Given the description of an element on the screen output the (x, y) to click on. 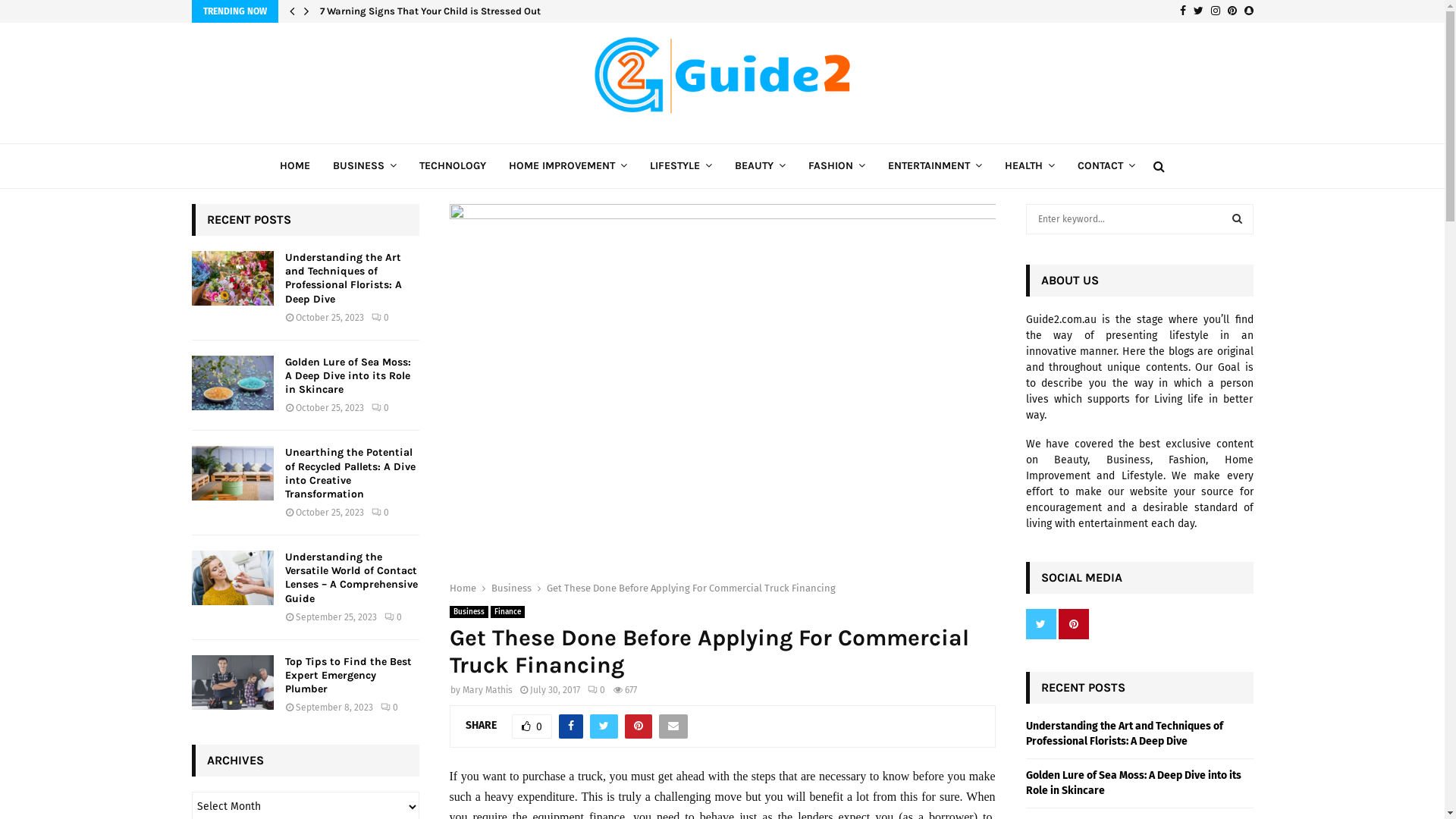
TECHNOLOGY Element type: text (452, 165)
Business Element type: text (511, 587)
HOME IMPROVEMENT Element type: text (567, 165)
Top Tips to Find the Best Expert Emergency Plumber Element type: text (348, 675)
BUSINESS Element type: text (364, 165)
Tips to Hire Moving Boxes from the Reliable Firm Element type: text (431, 10)
LIFESTYLE Element type: text (680, 165)
0 Element type: text (380, 512)
0 Element type: text (389, 707)
0 Element type: text (595, 689)
0 Element type: text (392, 616)
Pinterest Element type: text (1231, 11)
ENTERTAINMENT Element type: text (935, 165)
FASHION Element type: text (836, 165)
HOME Element type: text (294, 165)
Mary Mathis Element type: text (487, 689)
0 Element type: text (531, 726)
0 Element type: text (380, 407)
Facebook Element type: text (1182, 11)
BEAUTY Element type: text (759, 165)
Finance Element type: text (506, 611)
CONTACT Element type: text (1106, 165)
Instagram Element type: text (1214, 11)
Business Element type: text (467, 611)
0 Element type: text (380, 317)
SEARCH Element type: text (1236, 218)
HEALTH Element type: text (1029, 165)
Snapchat Element type: text (1247, 11)
Top Tips to Find the Best Expert Emergency Plumber Element type: hover (232, 682)
Home Element type: text (461, 587)
Twitter Element type: text (1198, 11)
